Given the description of an element on the screen output the (x, y) to click on. 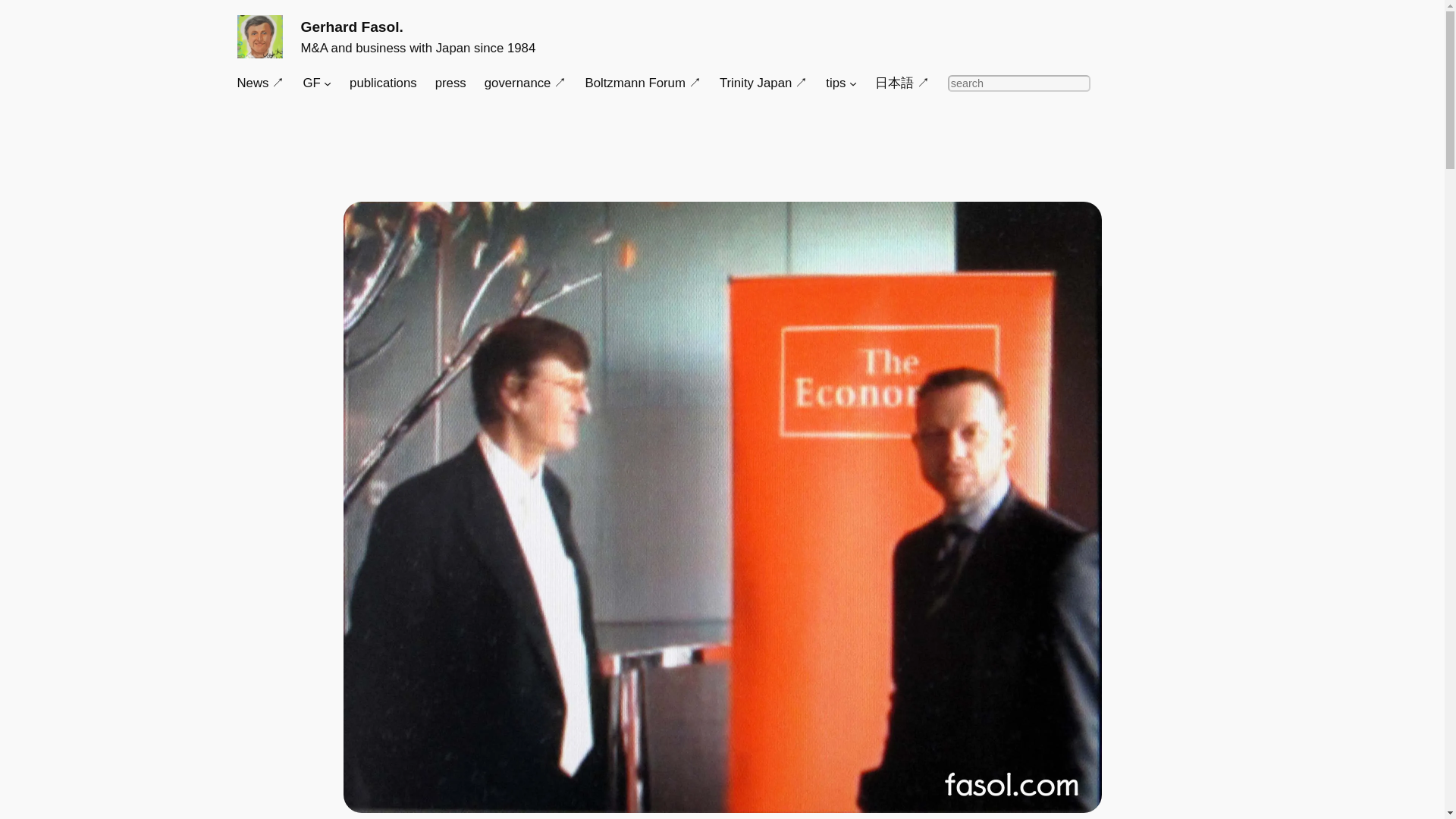
governance (525, 83)
publications (382, 83)
Trinity Japan (763, 83)
tips (835, 83)
press (450, 83)
Gerhard Fasol. (351, 26)
News (259, 83)
Boltzmann Forum (642, 83)
